Given the description of an element on the screen output the (x, y) to click on. 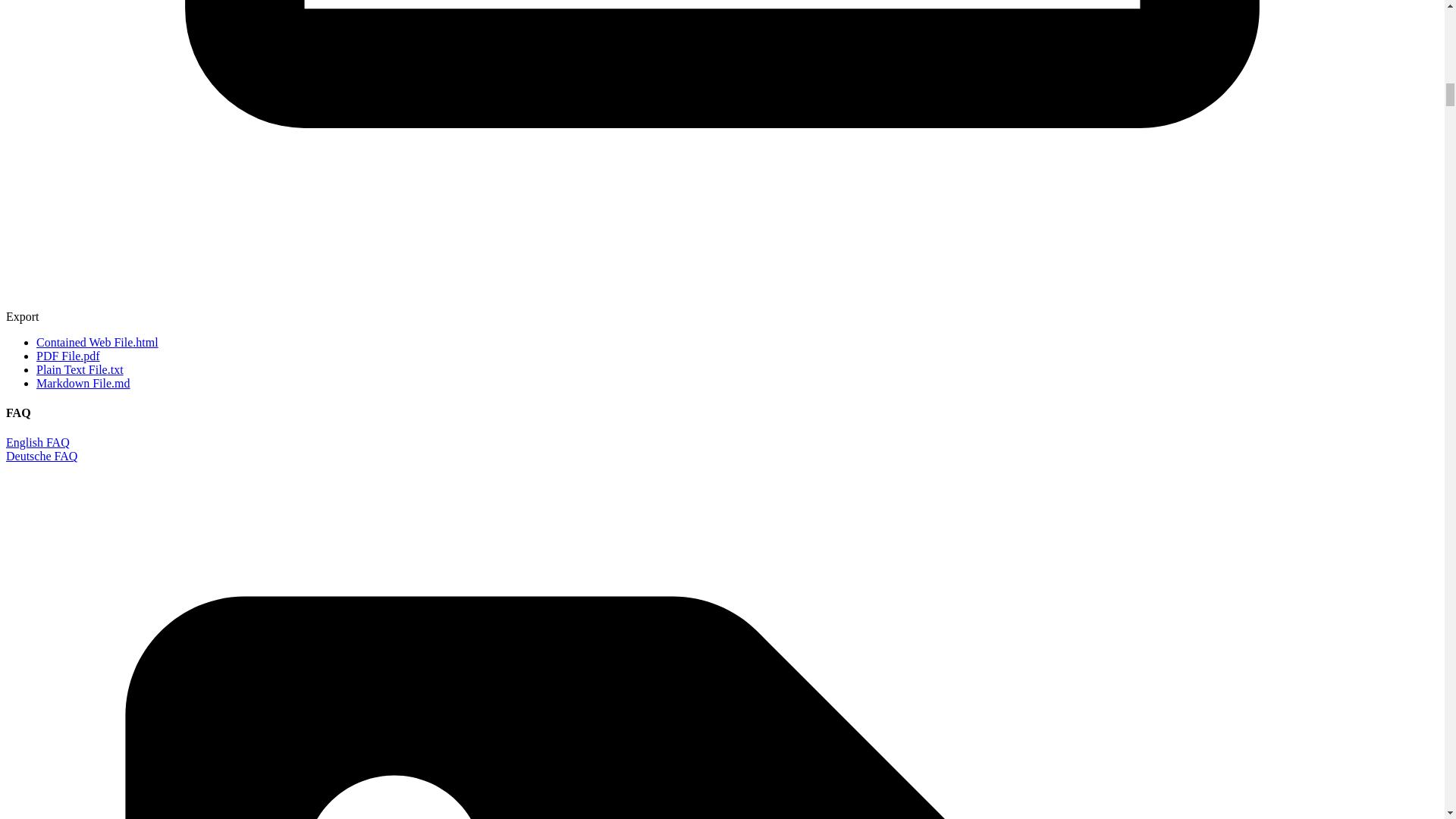
English FAQ (37, 441)
PDF File.pdf (68, 355)
Plain Text File.txt (79, 369)
Markdown File.md (83, 382)
Contained Web File.html (97, 341)
Deutsche FAQ (41, 455)
